Given the description of an element on the screen output the (x, y) to click on. 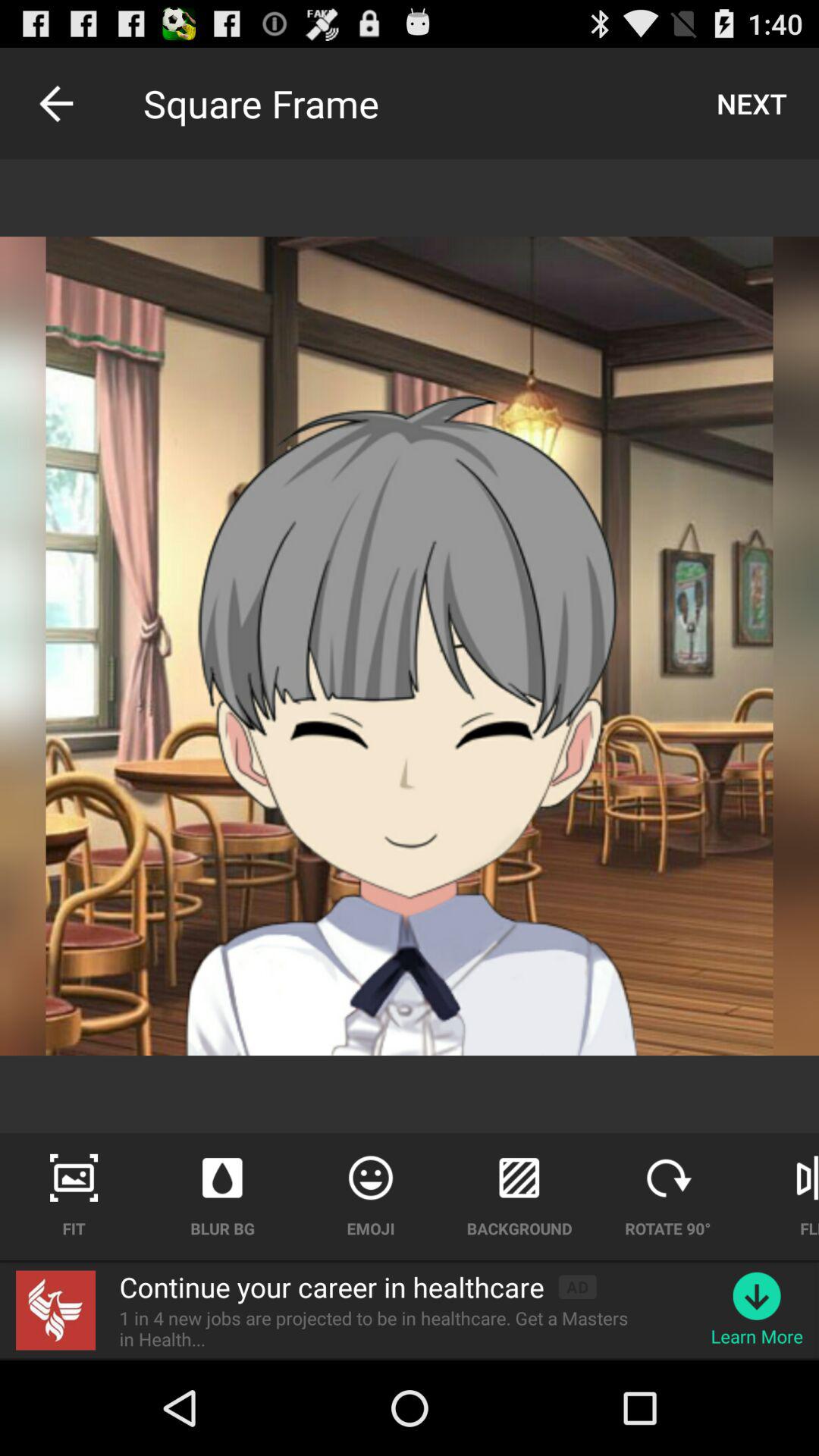
choose the item to the left of the square frame icon (55, 103)
